Given the description of an element on the screen output the (x, y) to click on. 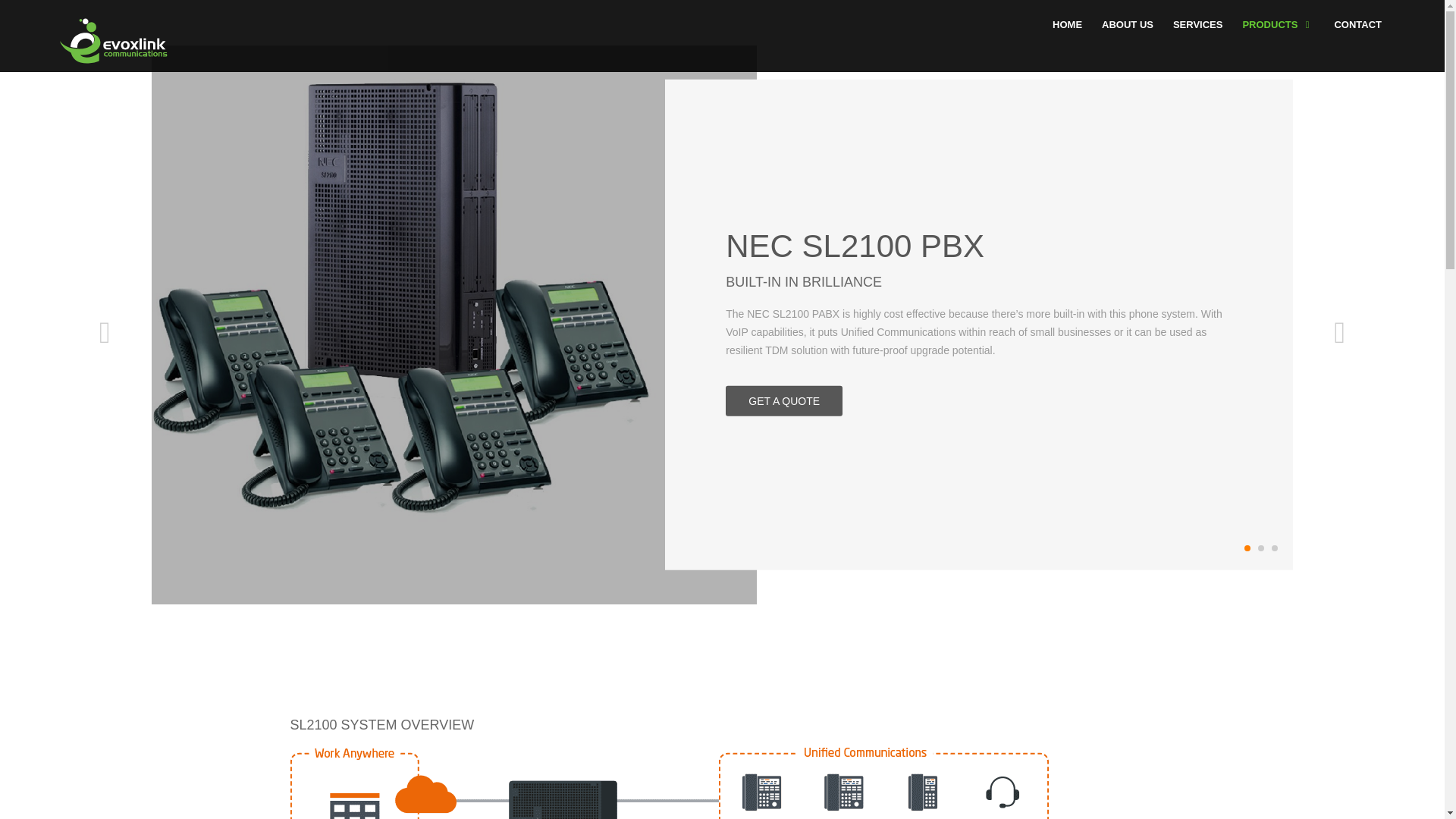
PRODUCTS (1278, 28)
ABOUT US (1127, 28)
SERVICES (1197, 28)
GET A QUOTE (784, 400)
HOME (1066, 28)
CONTACT (1357, 28)
Evoxlink Communications (113, 40)
